Given the description of an element on the screen output the (x, y) to click on. 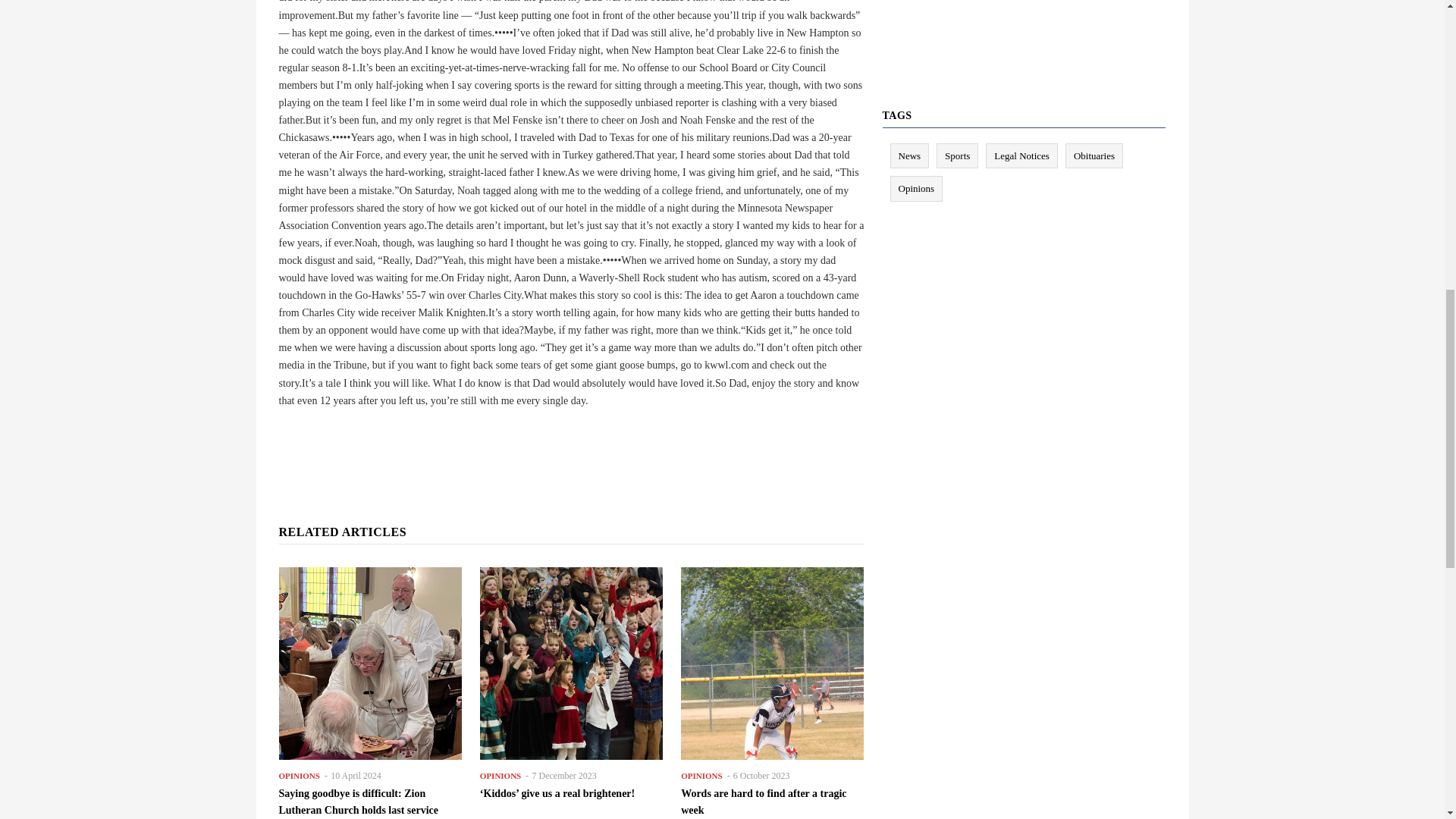
Share to Pinterest (561, 437)
Share to E-mail (603, 437)
Share to Twitter (539, 437)
Share to Reddit (582, 437)
Share to Facebook (518, 437)
